Given the description of an element on the screen output the (x, y) to click on. 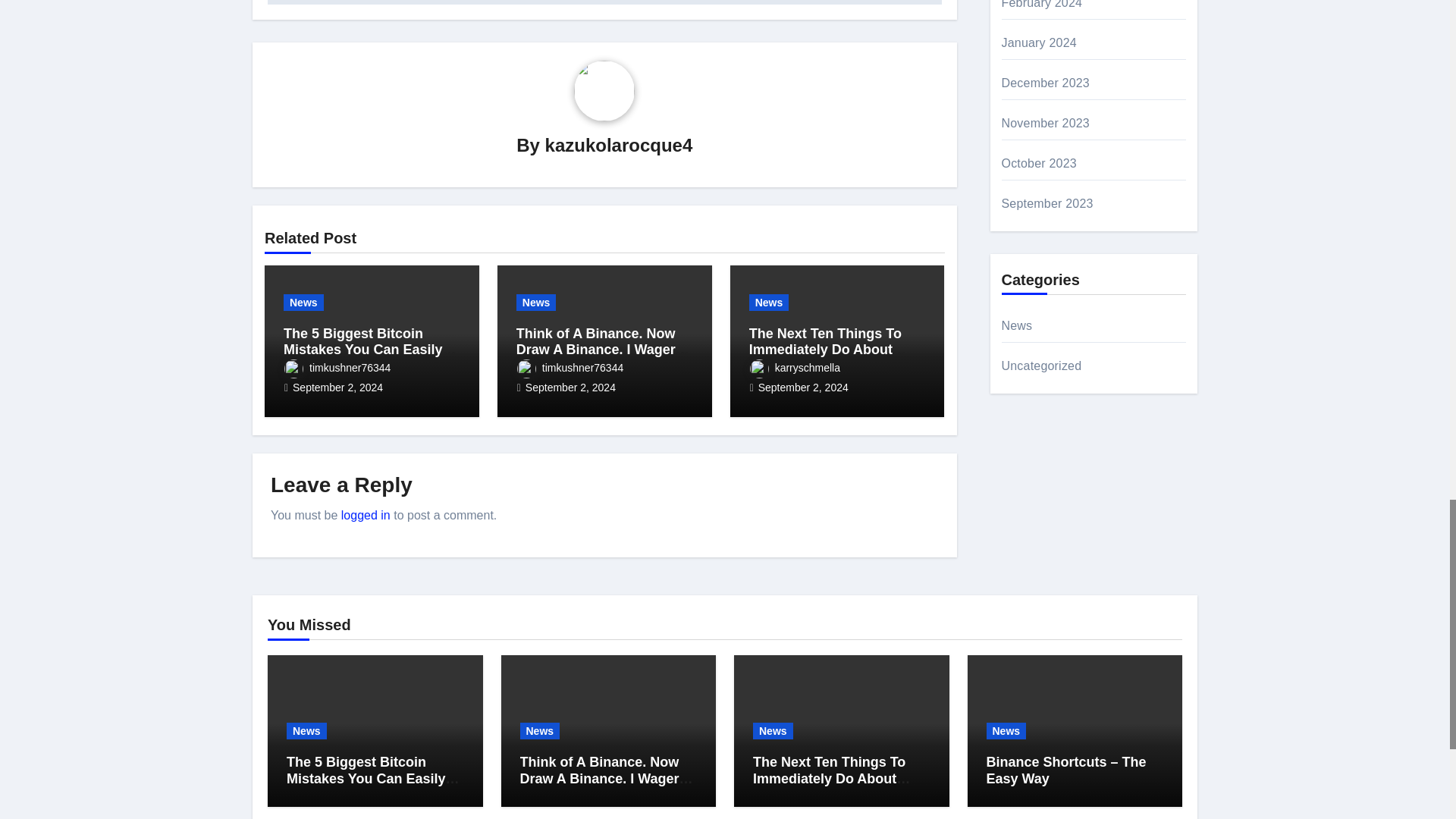
kazukolarocque4 (618, 145)
News (303, 302)
The 5 Biggest Bitcoin Mistakes You Can Easily Avoid (369, 349)
